Given the description of an element on the screen output the (x, y) to click on. 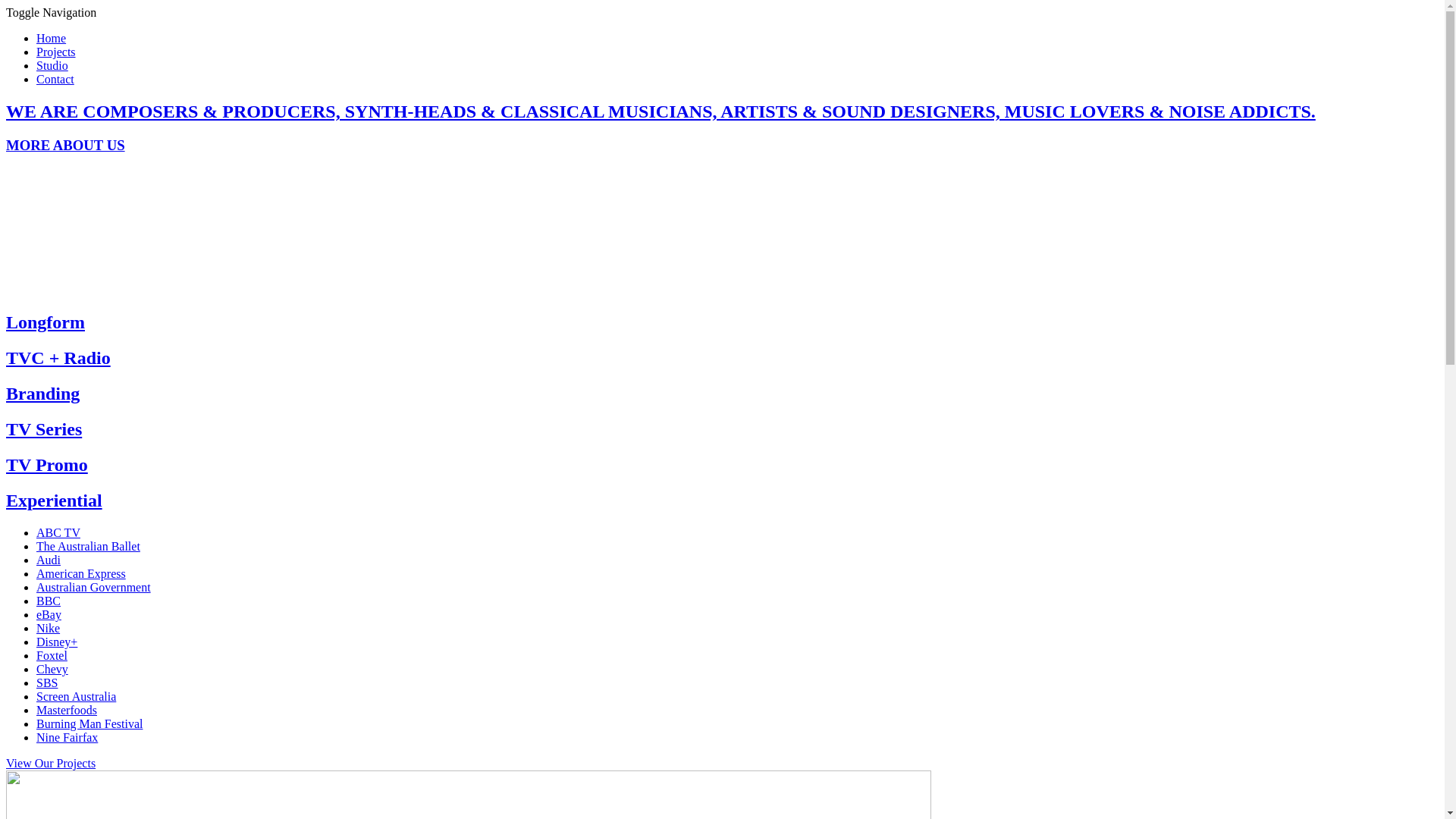
Disney+ Element type: text (56, 641)
Projects Element type: text (55, 51)
Experiential Element type: text (54, 500)
MORE ABOUT US Element type: text (65, 145)
TVC + Radio Element type: text (58, 357)
Nike Element type: text (47, 627)
BBC Element type: text (48, 600)
SBS Element type: text (46, 682)
TV Promo Element type: text (46, 464)
ABC TV Element type: text (58, 532)
Home Element type: text (50, 37)
The Australian Ballet Element type: text (88, 545)
Foxtel Element type: text (51, 655)
Masterfoods Element type: text (66, 709)
Contact Element type: text (55, 78)
eBay Element type: text (48, 614)
Studio Element type: text (52, 65)
Burning Man Festival Element type: text (89, 723)
Audi Element type: text (48, 559)
Chevy Element type: text (52, 668)
View Our Projects Element type: text (50, 762)
Australian Government Element type: text (93, 586)
Screen Australia Element type: text (76, 696)
Nine Fairfax Element type: text (66, 737)
American Express Element type: text (80, 573)
Longform Element type: text (45, 322)
Branding Element type: text (42, 393)
TV Series Element type: text (43, 429)
